Given the description of an element on the screen output the (x, y) to click on. 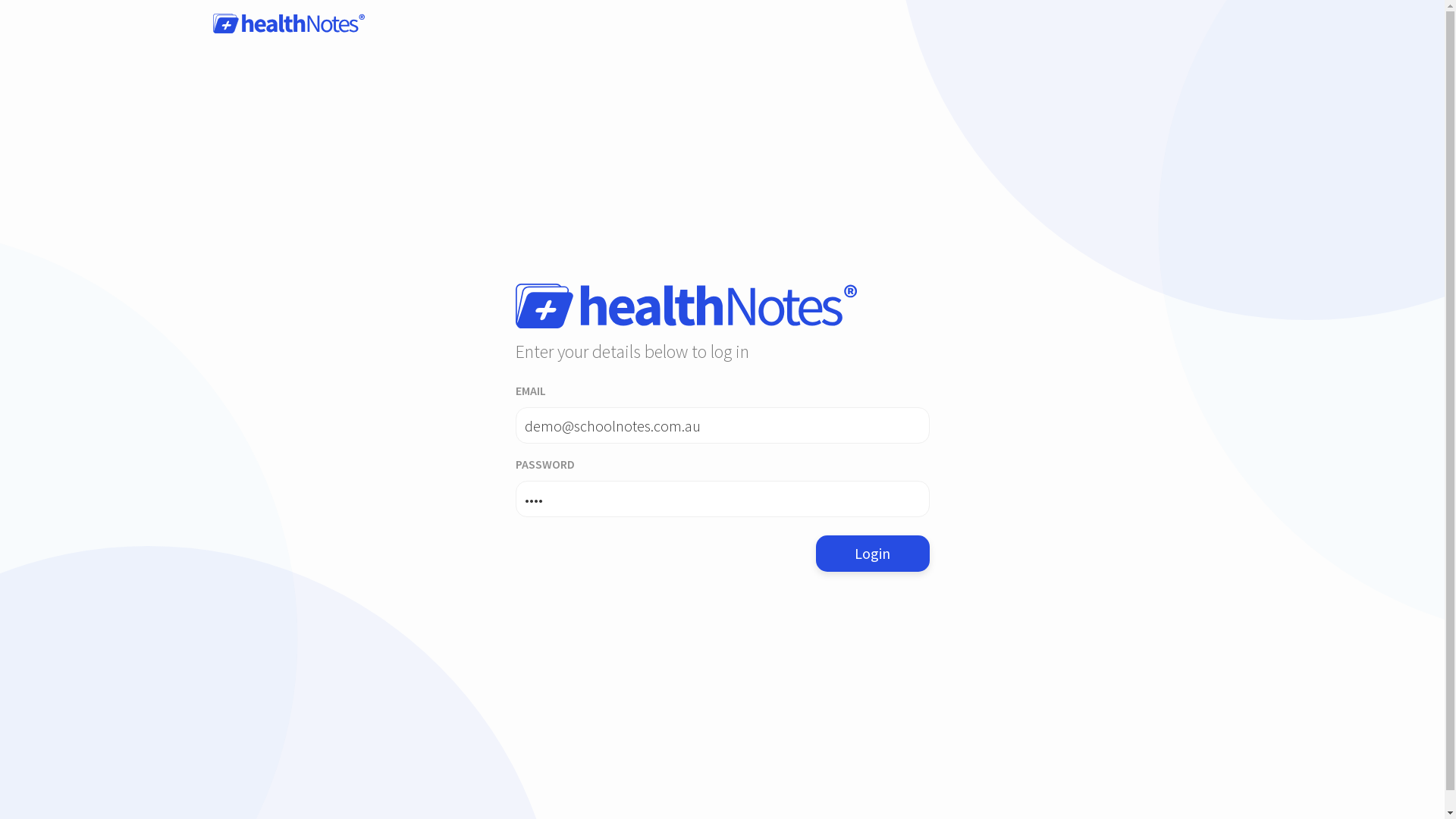
Login Element type: text (872, 553)
